Given the description of an element on the screen output the (x, y) to click on. 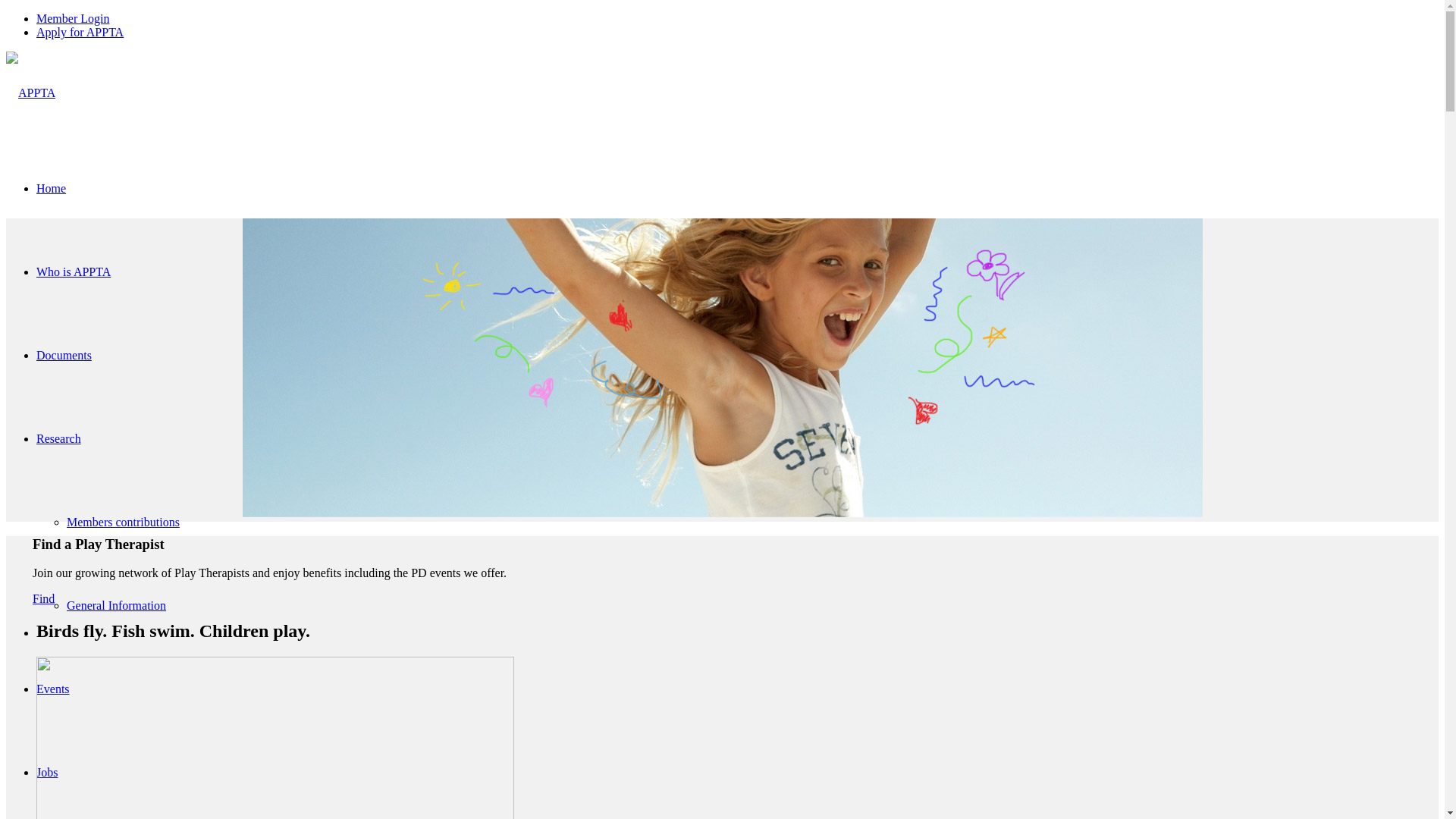
Member Login Element type: text (72, 18)
Apply for APPTA Element type: text (79, 31)
Documents Element type: text (63, 354)
Home Element type: text (50, 188)
Members contributions Element type: text (122, 521)
Jobs Element type: text (46, 771)
Research Element type: text (58, 438)
Find Element type: text (43, 598)
Who is APPTA Element type: text (73, 271)
General Information Element type: text (116, 605)
Events Element type: text (52, 688)
